Given the description of an element on the screen output the (x, y) to click on. 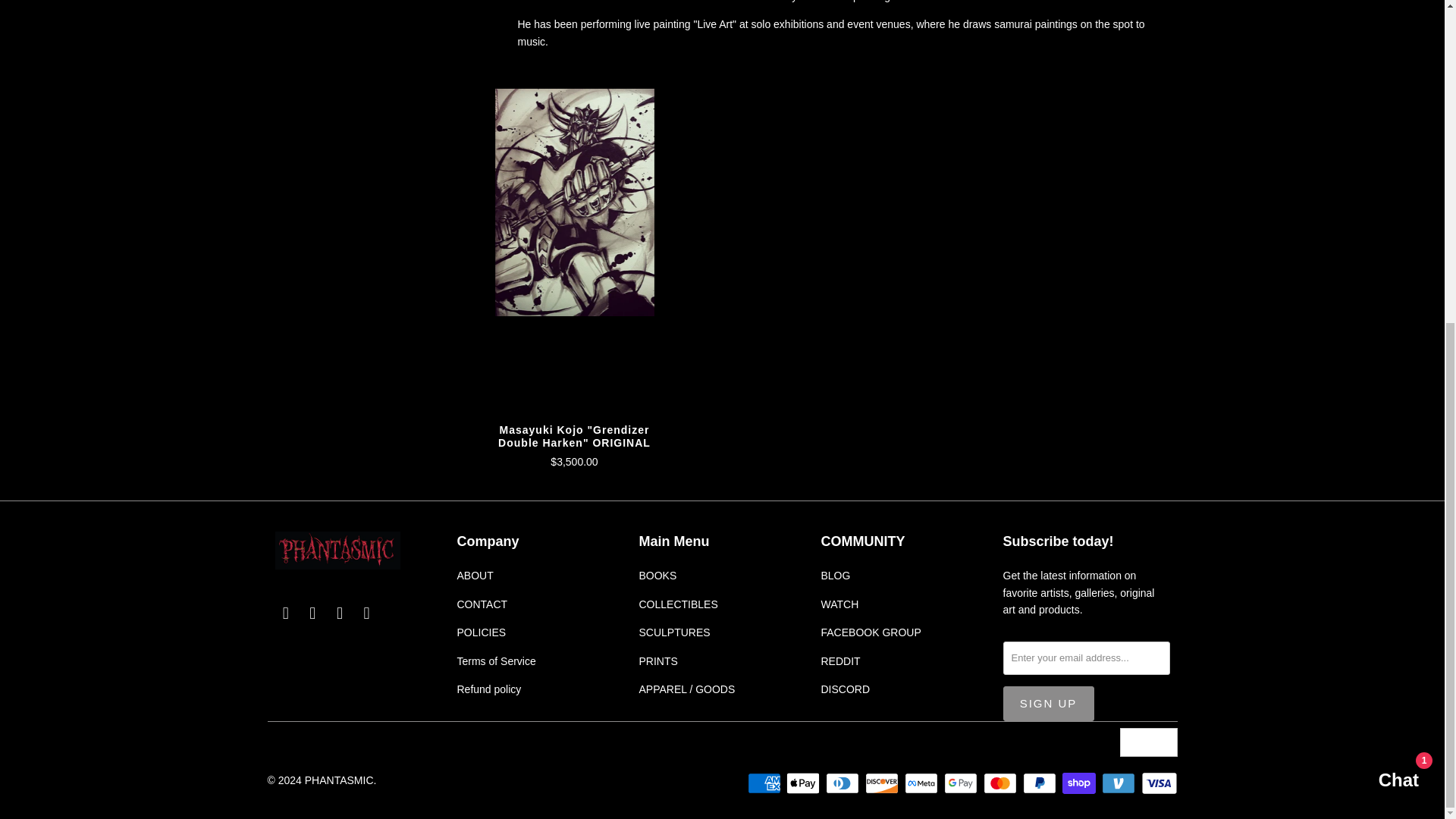
Discover (882, 783)
Diners Club (843, 783)
Visa (1158, 783)
Shop Pay (1080, 783)
American Express (766, 783)
Email PHANTASMIC (286, 613)
PayPal (1041, 783)
Google Pay (961, 783)
Sign Up (1048, 703)
Mastercard (1002, 783)
Apple Pay (804, 783)
Venmo (1120, 783)
PHANTASMIC on Facebook (312, 613)
Meta Pay (922, 783)
